Given the description of an element on the screen output the (x, y) to click on. 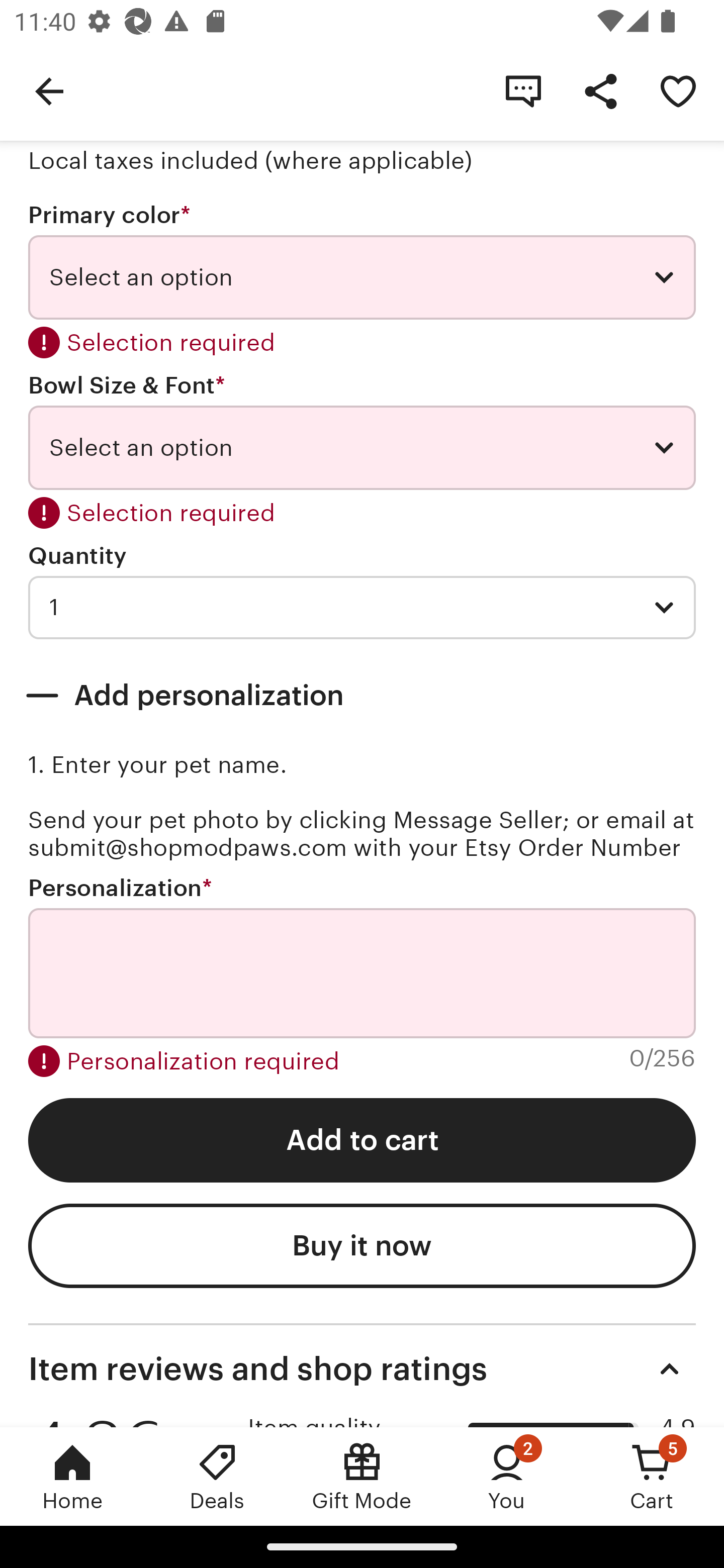
Navigate up (49, 90)
Contact shop (523, 90)
Share (600, 90)
Select an option (361, 277)
Select an option (361, 447)
Quantity (77, 555)
1 (361, 607)
Add personalization Add personalization Required (362, 695)
Add to cart (361, 1139)
Buy it now (361, 1245)
Item reviews and shop ratings (362, 1368)
Deals (216, 1475)
Gift Mode (361, 1475)
You, 2 new notifications You (506, 1475)
Cart, 5 new notifications Cart (651, 1475)
